Given the description of an element on the screen output the (x, y) to click on. 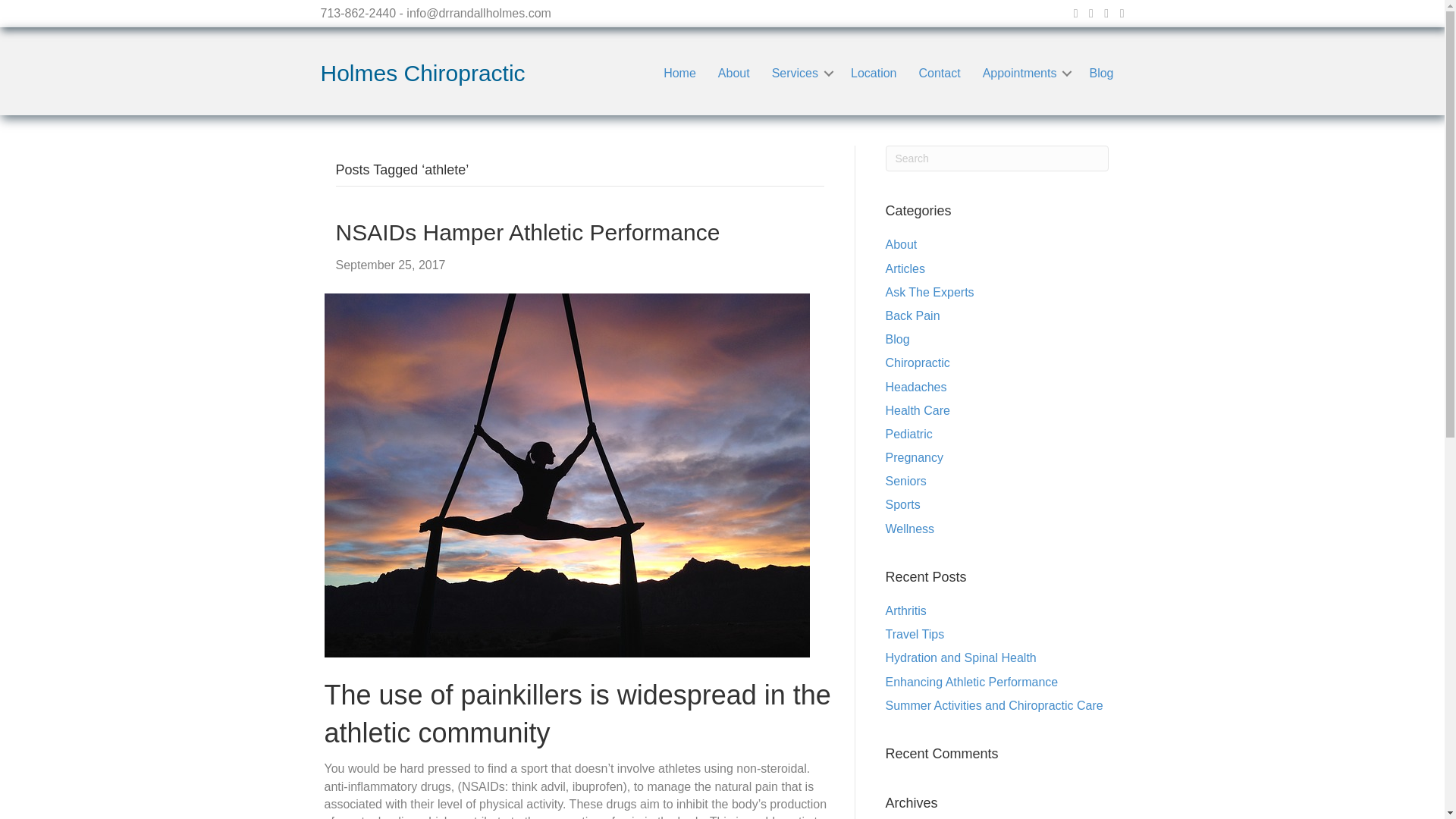
Appointments (1025, 73)
Seniors (905, 481)
Articles (904, 268)
Sports (902, 504)
Type and press Enter to search. (997, 158)
Home (679, 73)
NSAIDs Hamper Athletic Performance (566, 473)
Headaches (916, 386)
Wellness (909, 528)
Location (873, 73)
